Given the description of an element on the screen output the (x, y) to click on. 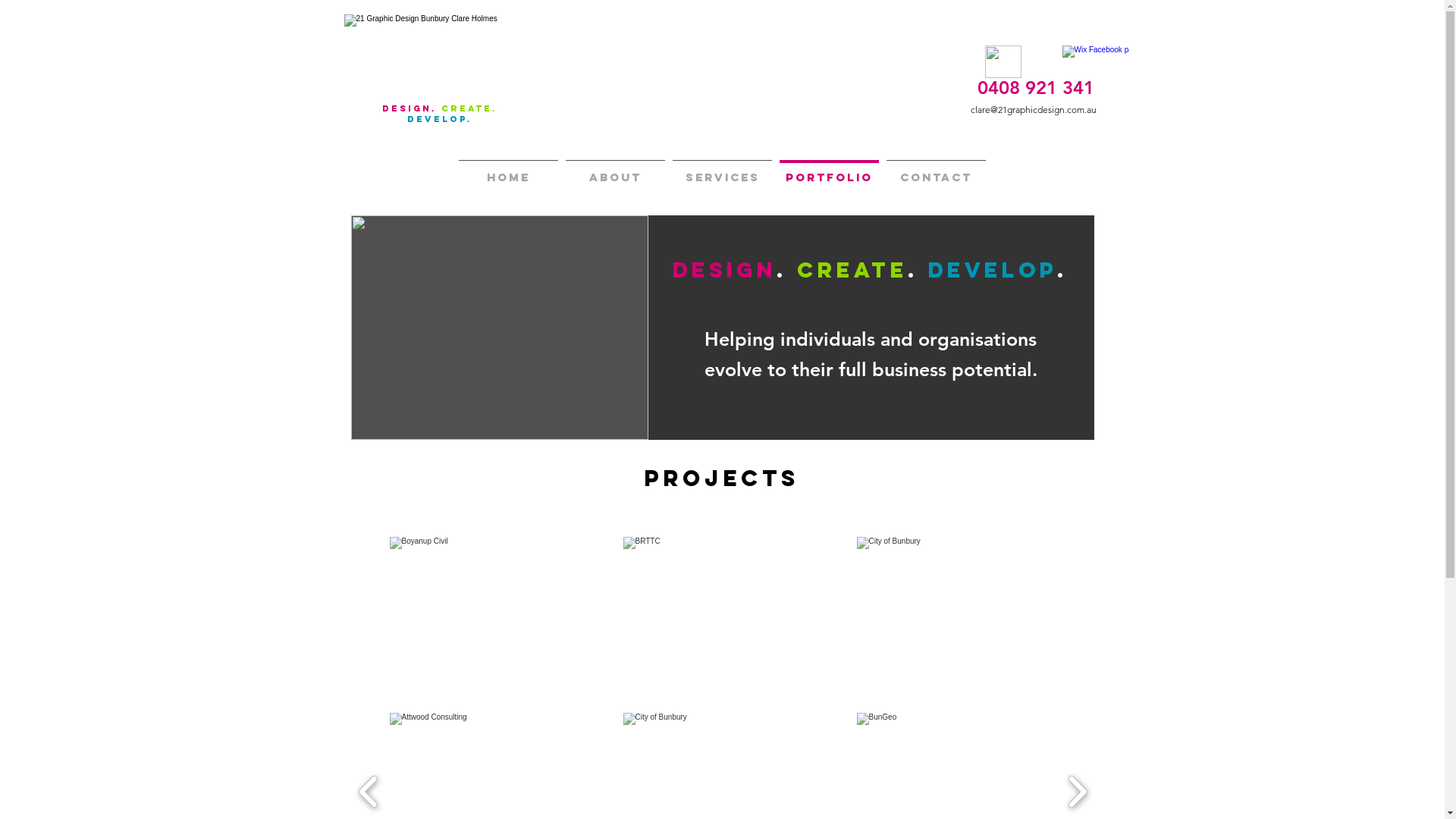
CONTACT Element type: text (935, 170)
21gd BIG.png Element type: hover (436, 54)
PORTFOLIO Element type: text (828, 170)
clare@21graphicdesign.com.au Element type: text (1033, 109)
SERVICES Element type: text (721, 170)
HOME Element type: text (508, 170)
ABOUT Element type: text (614, 170)
